Given the description of an element on the screen output the (x, y) to click on. 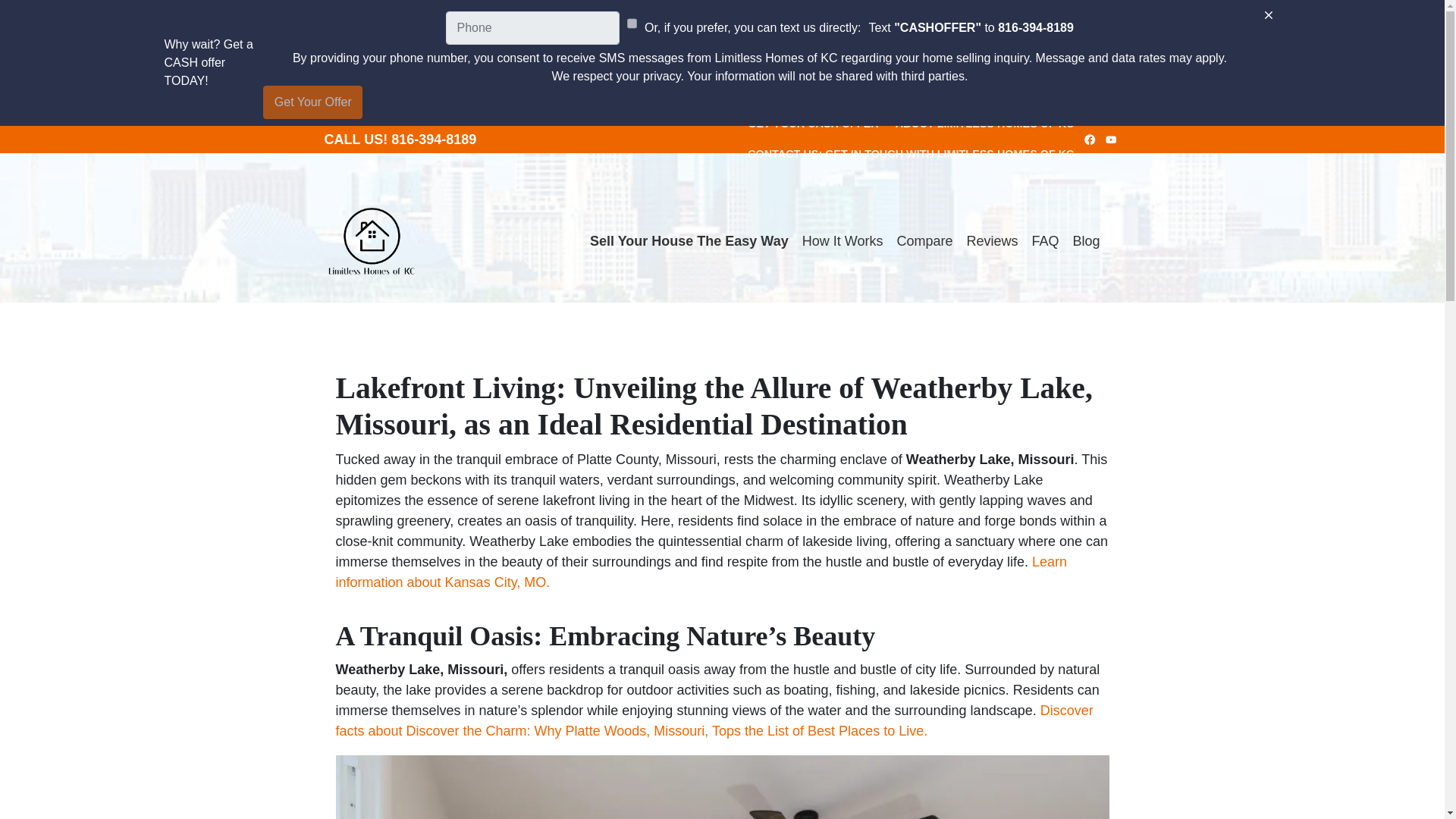
Blog (1085, 241)
Blog (1085, 241)
FAQ (1045, 241)
Get Your Offer (312, 101)
Reviews (992, 241)
Sell Your House The Easy Way (688, 241)
YOUTUBE (1111, 139)
How It Works (841, 241)
FAQ (1045, 241)
